Given the description of an element on the screen output the (x, y) to click on. 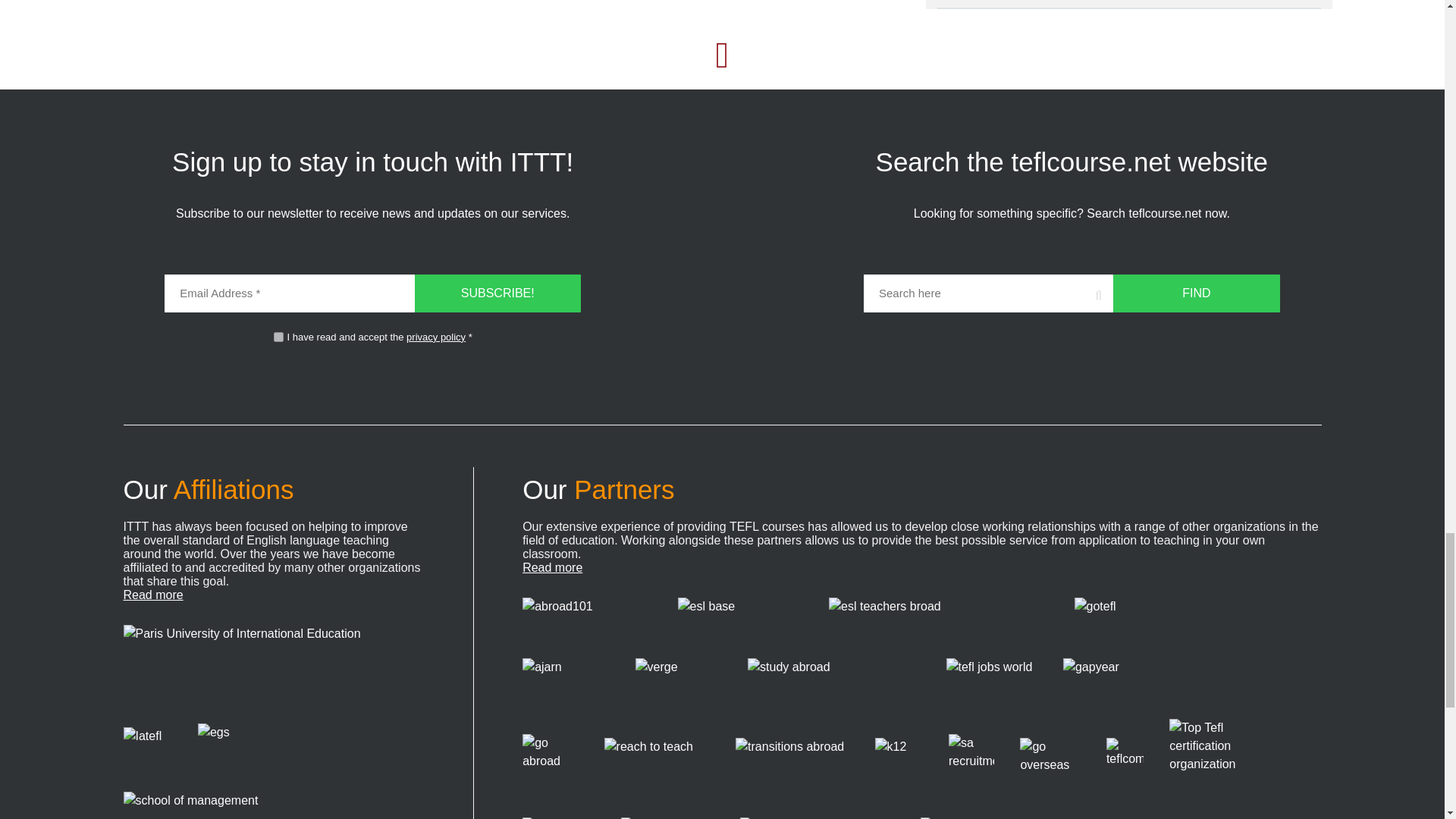
Iatefl (146, 745)
Paris University of International Education (246, 662)
1 (278, 337)
school of management (221, 805)
